Given the description of an element on the screen output the (x, y) to click on. 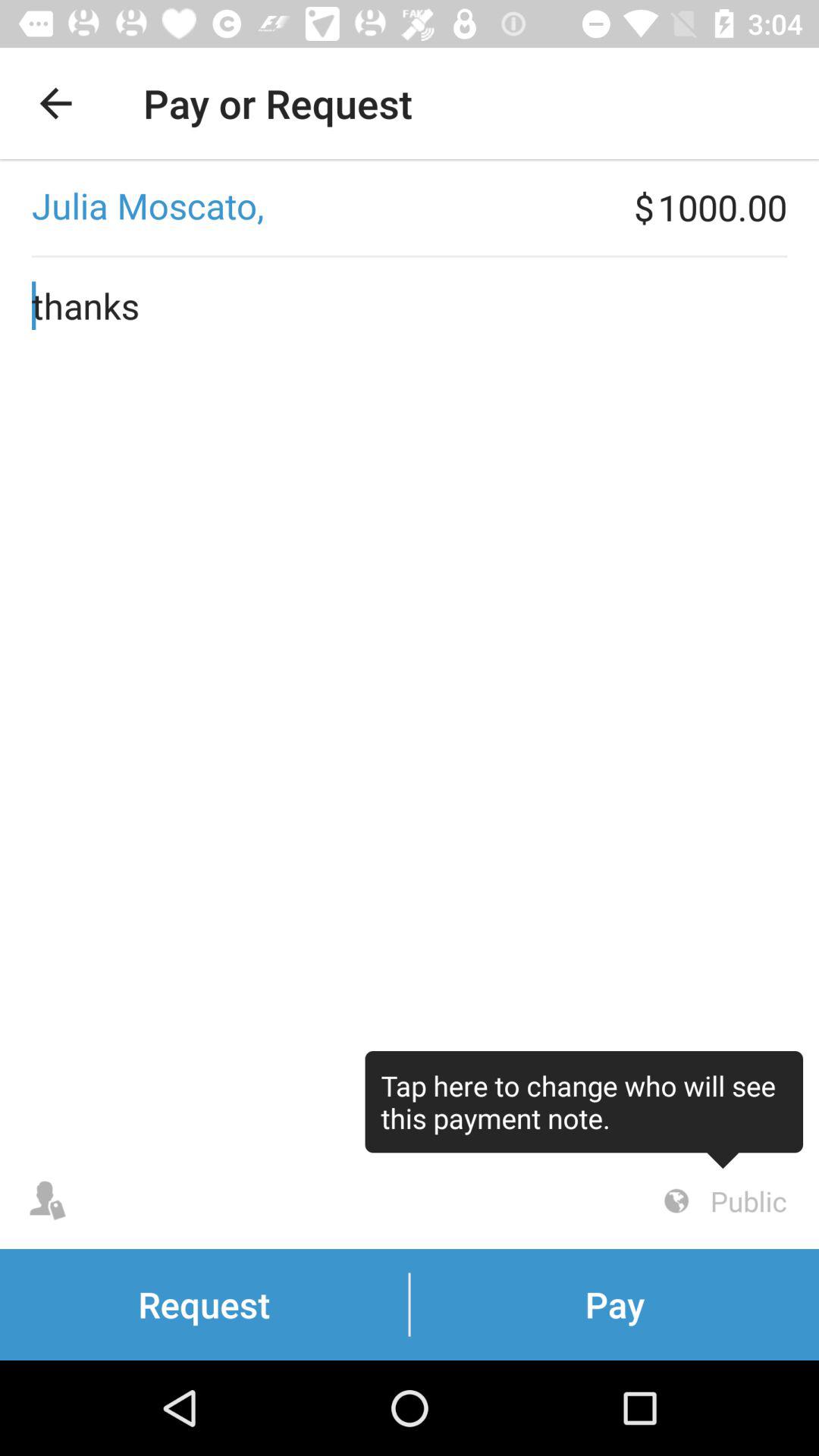
select the icon to the left of pay or request app (55, 103)
